Given the description of an element on the screen output the (x, y) to click on. 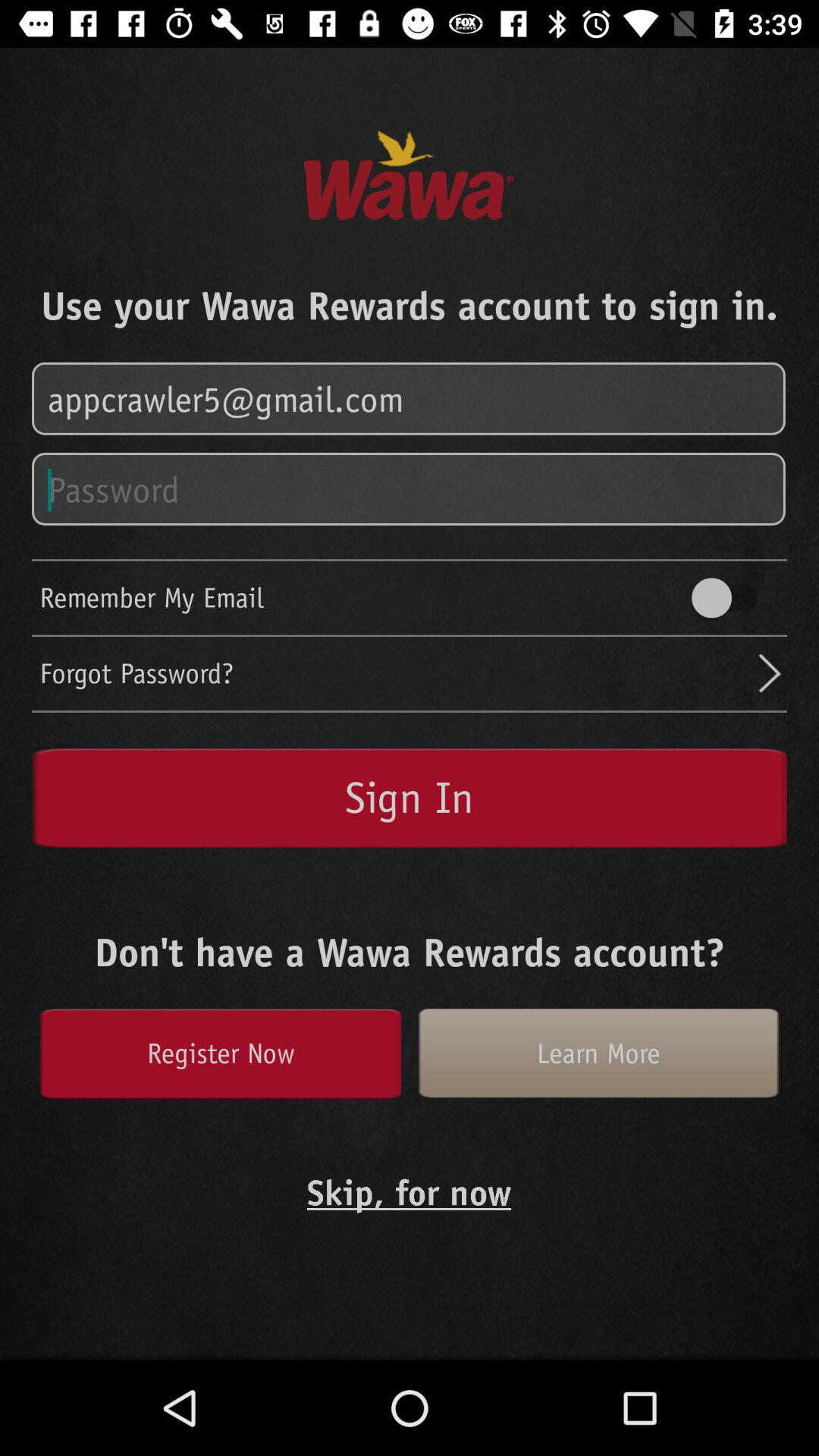
choose the register now icon (220, 1053)
